Given the description of an element on the screen output the (x, y) to click on. 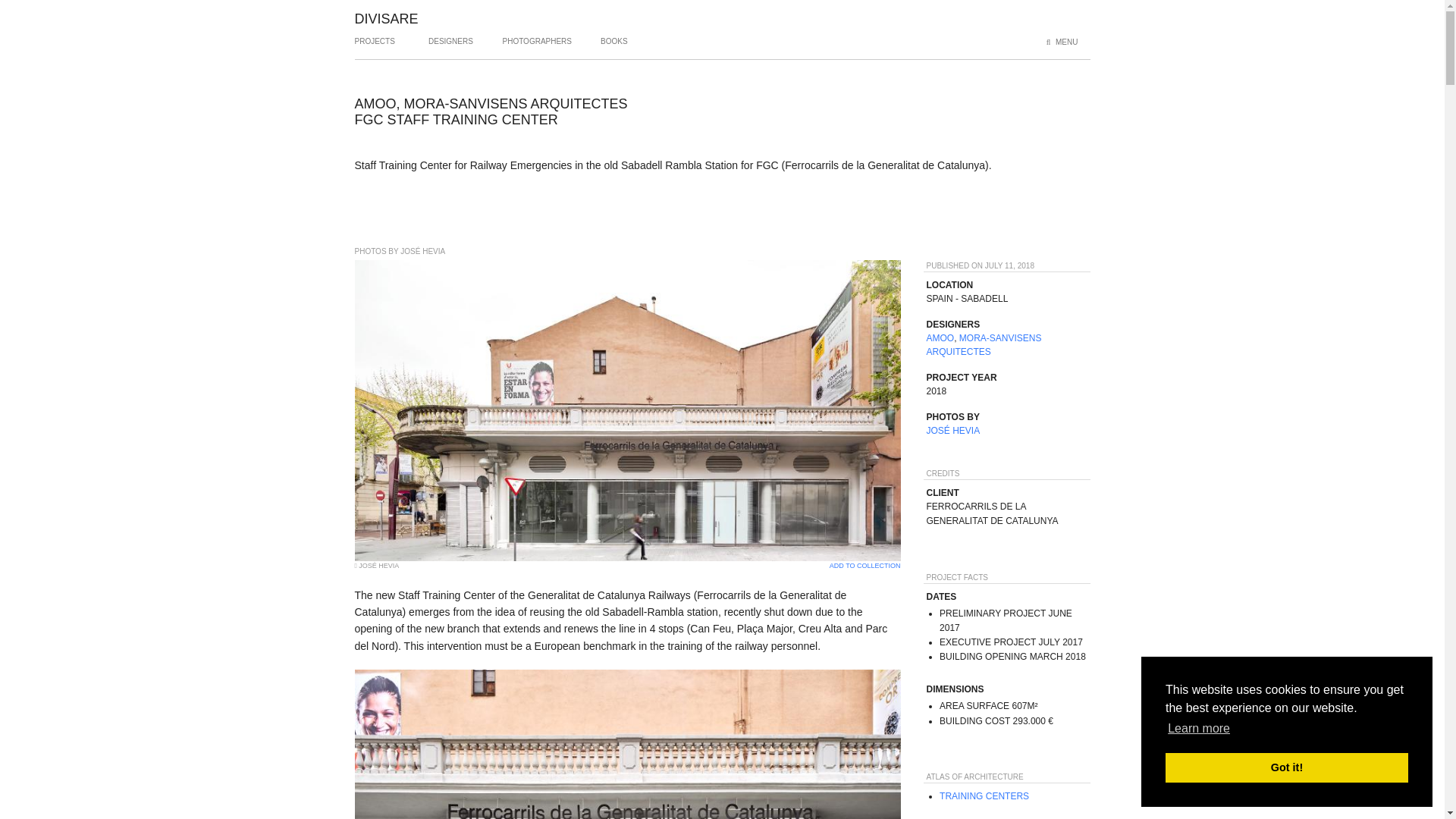
PROJECTS (374, 46)
Learn more (1198, 728)
DIVISARE (387, 18)
Got it! (1286, 767)
